Given the description of an element on the screen output the (x, y) to click on. 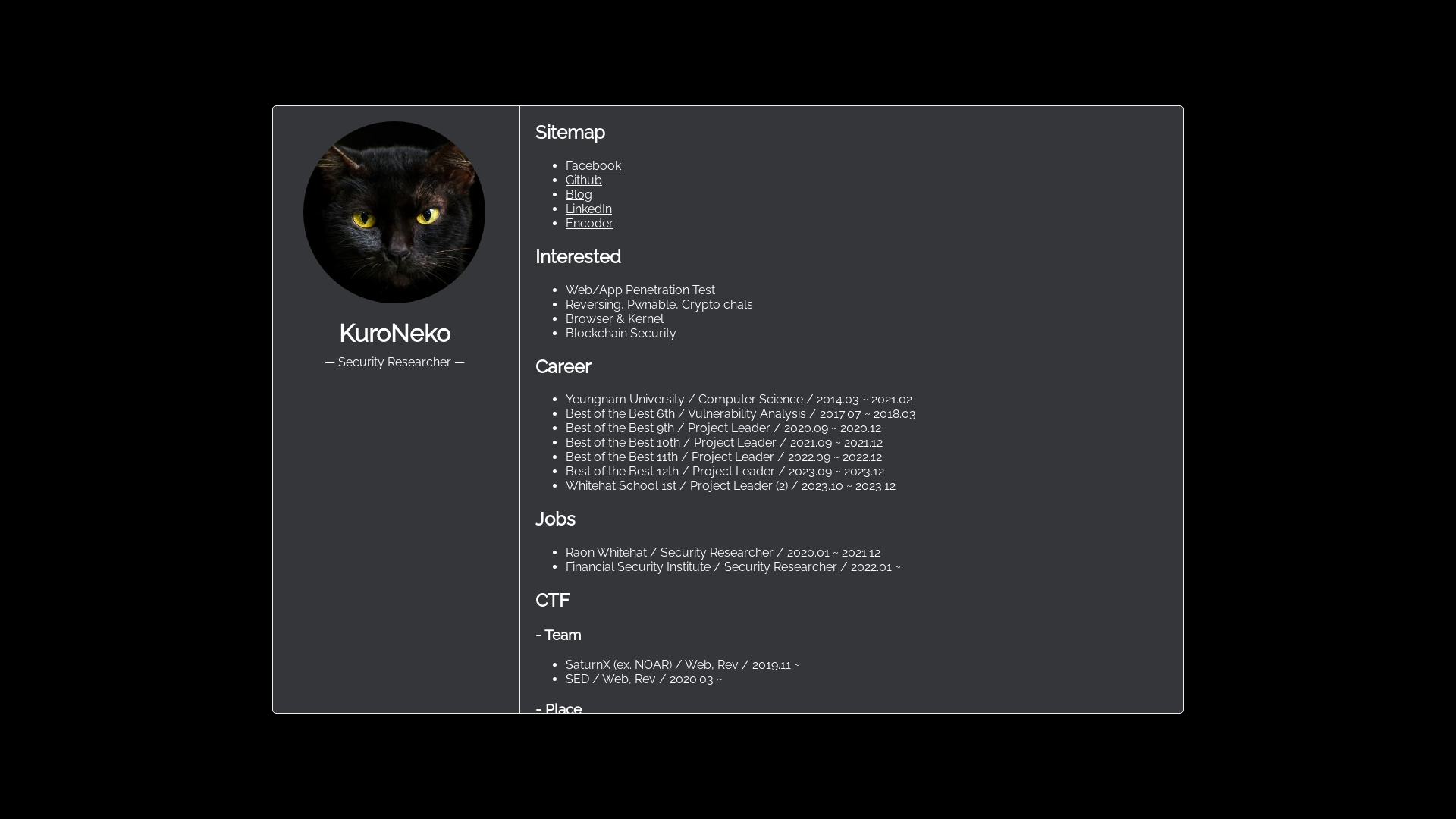
Encoder Element type: text (589, 223)
Github Element type: text (583, 179)
Blog Element type: text (578, 194)
Facebook Element type: text (593, 165)
LinkedIn Element type: text (588, 208)
